Given the description of an element on the screen output the (x, y) to click on. 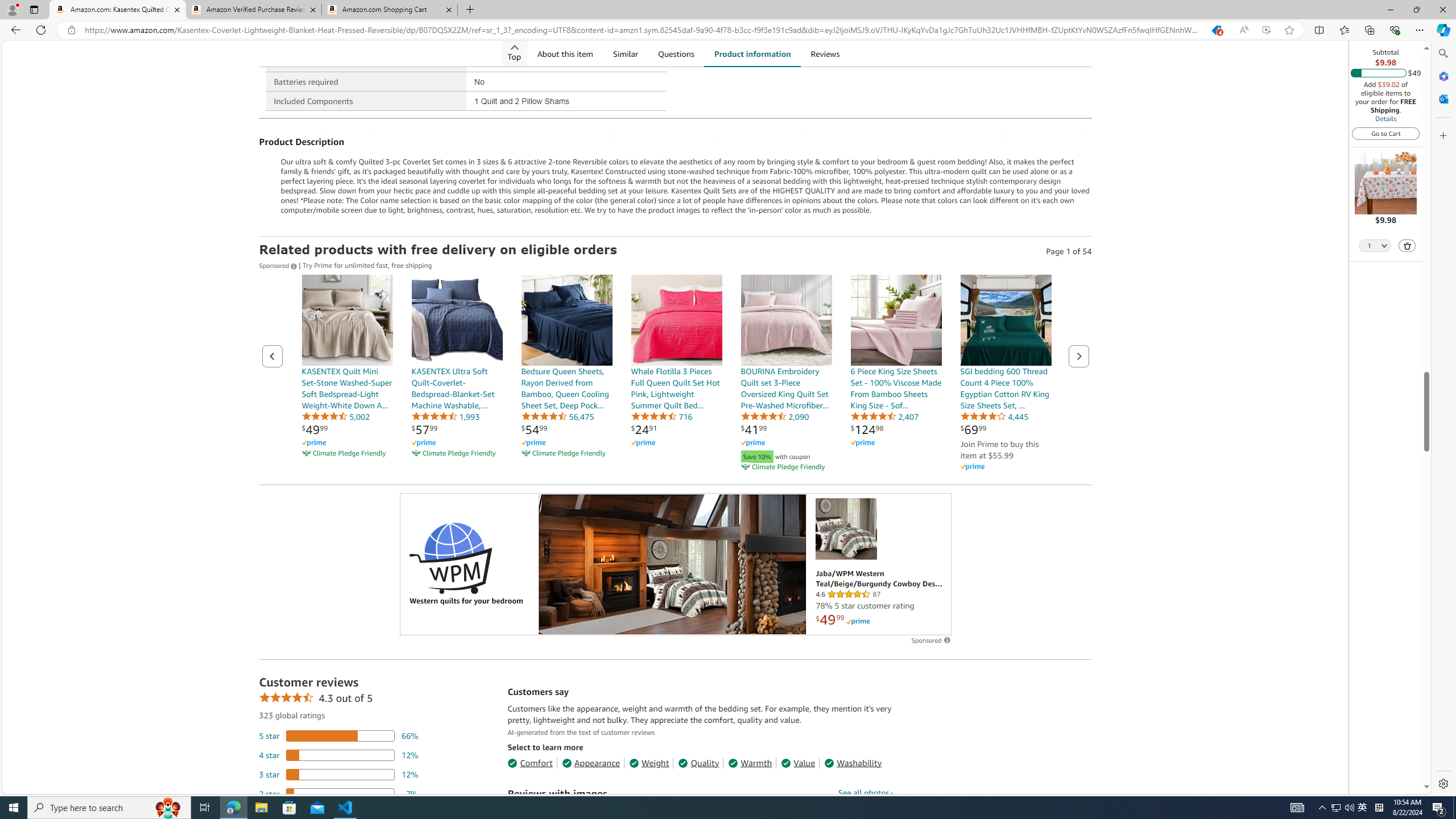
Shopping in Microsoft Edge (1216, 29)
Appearance (591, 762)
$54.99 (534, 429)
Next page of related Sponsored Products (1078, 355)
